Given the description of an element on the screen output the (x, y) to click on. 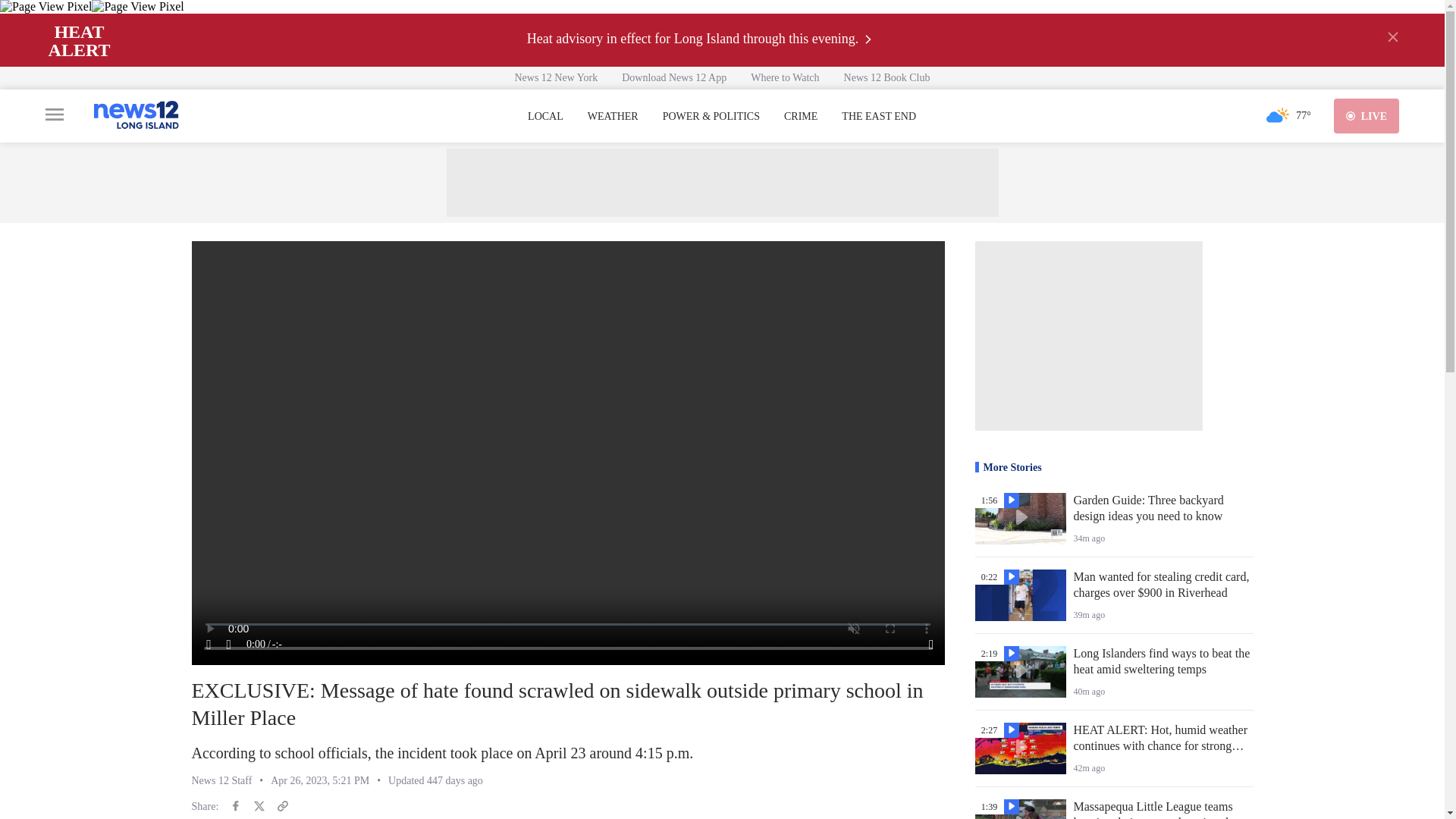
Partly Cloudy (1277, 115)
WEATHER (613, 116)
THE EAST END (878, 116)
Where to Watch (784, 78)
Unmute (229, 644)
News 12 New York (556, 78)
News 12 Book Club (886, 78)
Fullscreen (931, 644)
Download News 12 App (673, 78)
CRIME (800, 116)
LOCAL (545, 116)
Play (208, 644)
LIVE (1366, 115)
